Given the description of an element on the screen output the (x, y) to click on. 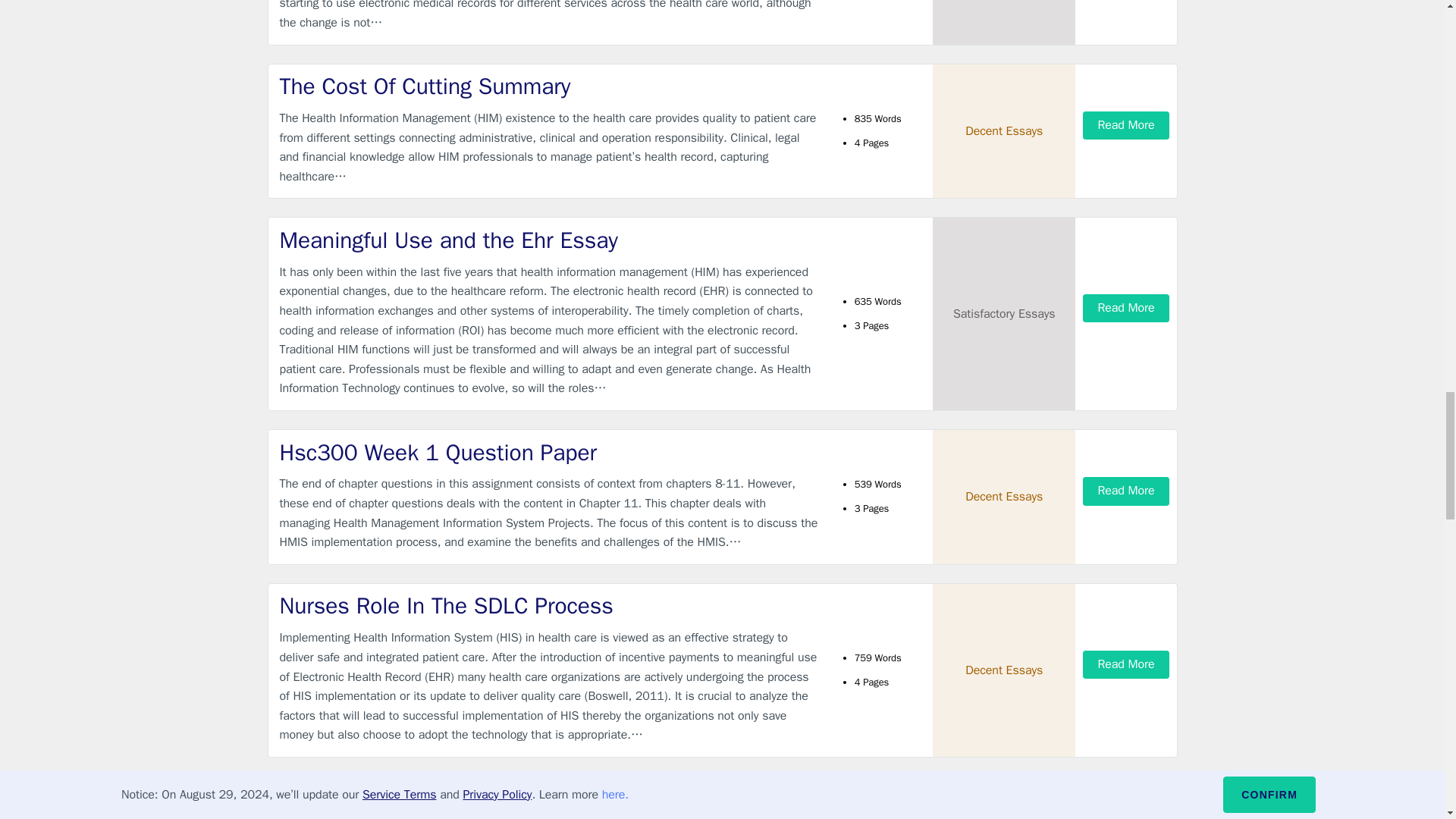
The Cost Of Cutting Summary (548, 86)
Meaningful Use and the Ehr Essay (548, 240)
Read More (1126, 308)
Read More (1126, 125)
Hsc300 Week 1 Question Paper (548, 452)
Read More (1126, 490)
